Given the description of an element on the screen output the (x, y) to click on. 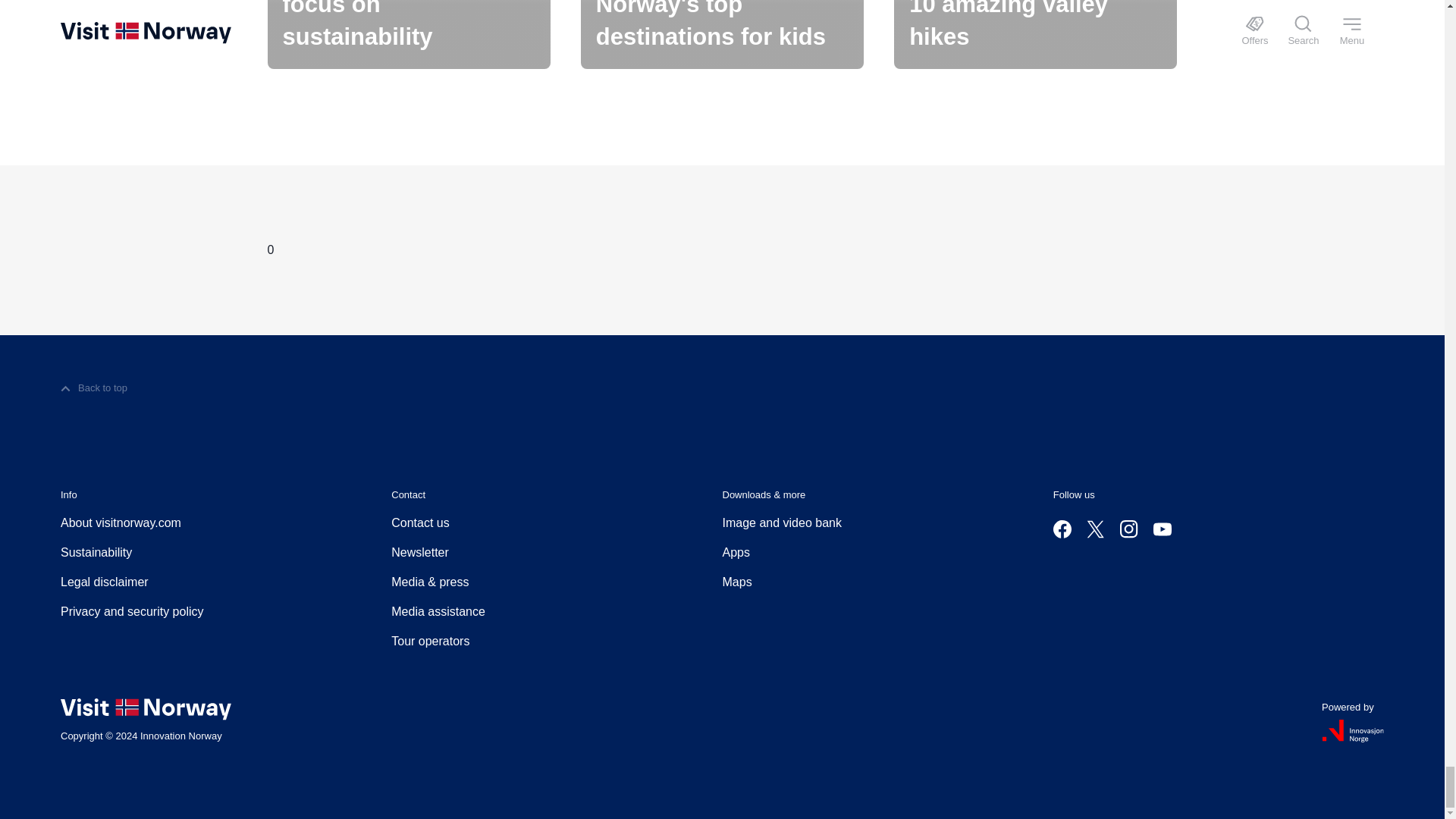
Contact us (419, 523)
About visitnorway.com (120, 523)
Tour operators (429, 641)
Destinations with a focus on sustainability (408, 34)
Sustainability (96, 552)
10 amazing valley hikes (1034, 34)
Legal disclaimer (104, 582)
Norway's top destinations for kids (721, 34)
Newsletter (419, 552)
Back to top (94, 388)
Privacy and security policy (132, 611)
Image and video bank (781, 523)
Media assistance (437, 611)
